Given the description of an element on the screen output the (x, y) to click on. 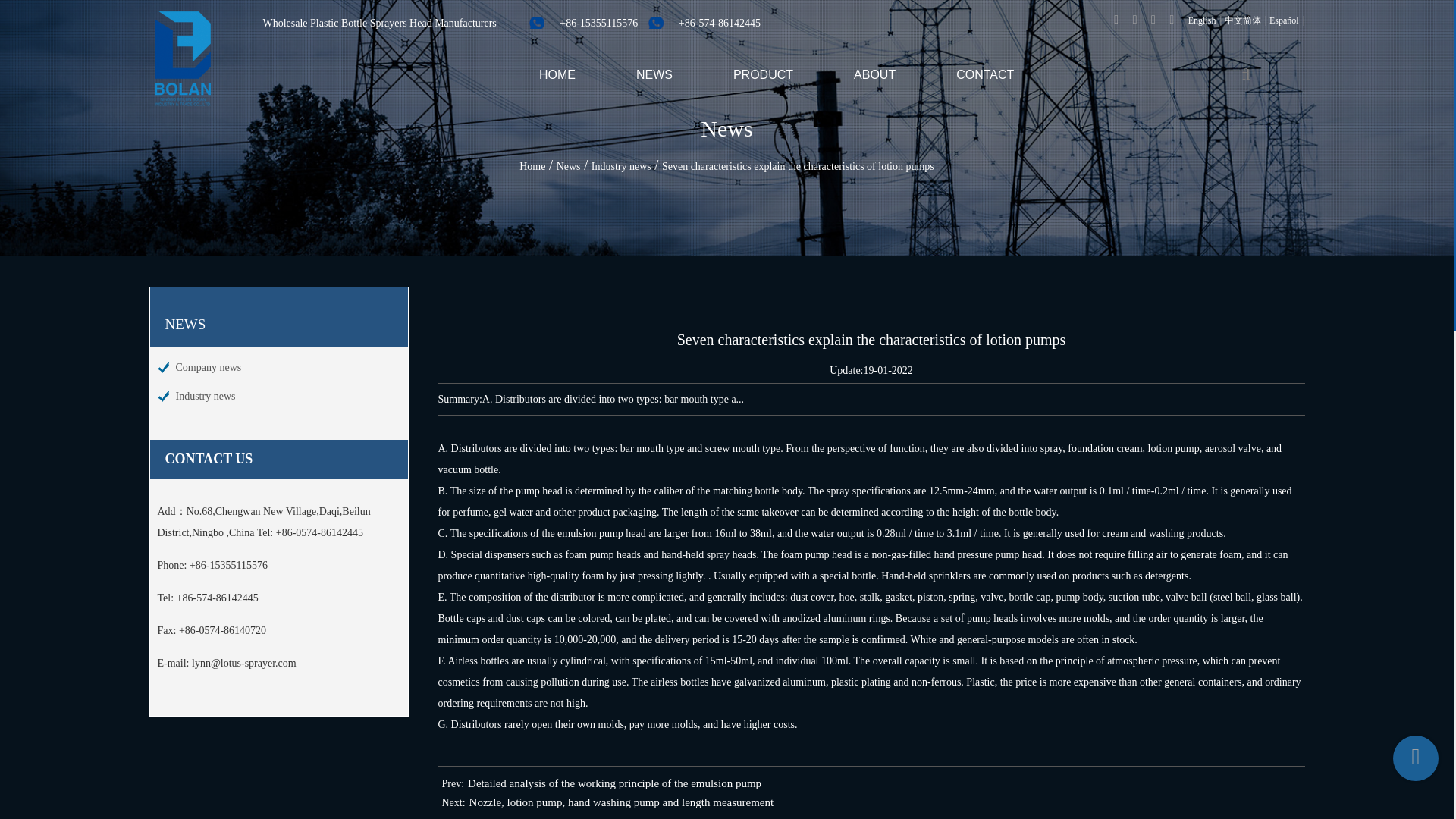
Wholesale Plastic Bottle Sprayers Head Manufacturers (363, 22)
NEWS (654, 74)
English (1201, 20)
HOME (556, 74)
